Given the description of an element on the screen output the (x, y) to click on. 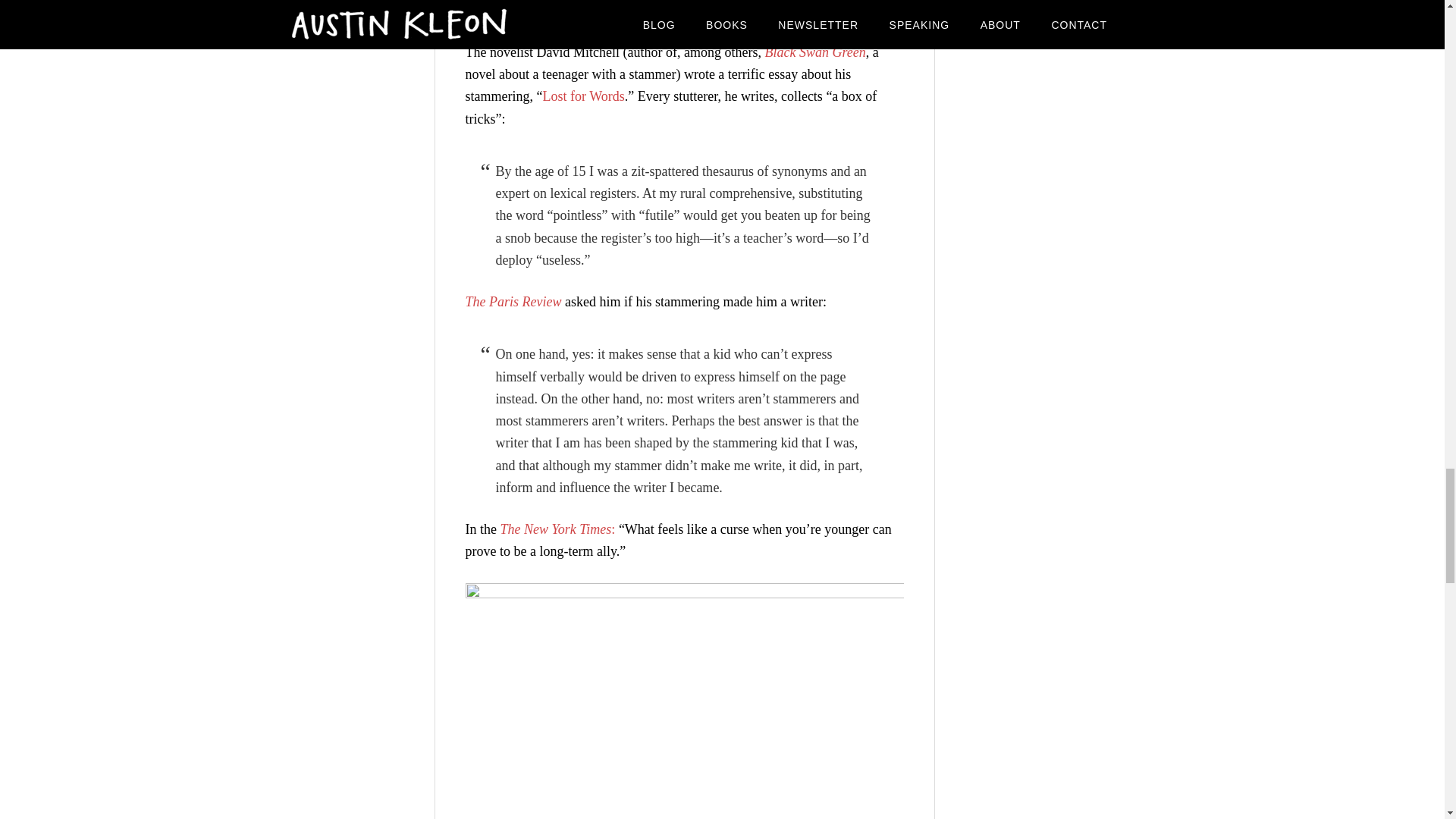
The New York Times: (556, 529)
Lost for Words (582, 96)
The Paris Review (513, 301)
Black Swan Green (814, 52)
